Given the description of an element on the screen output the (x, y) to click on. 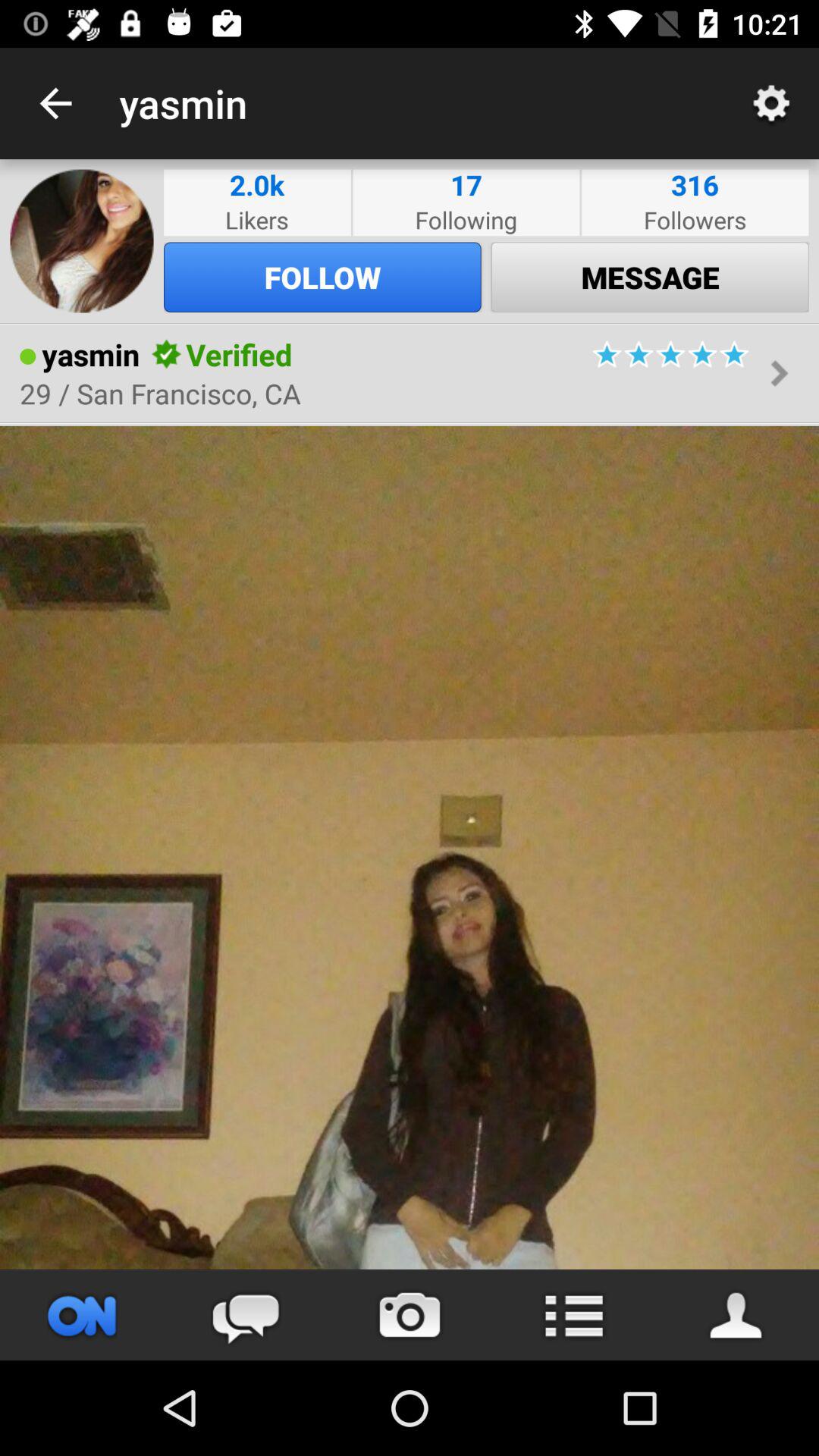
select user (737, 1315)
